Given the description of an element on the screen output the (x, y) to click on. 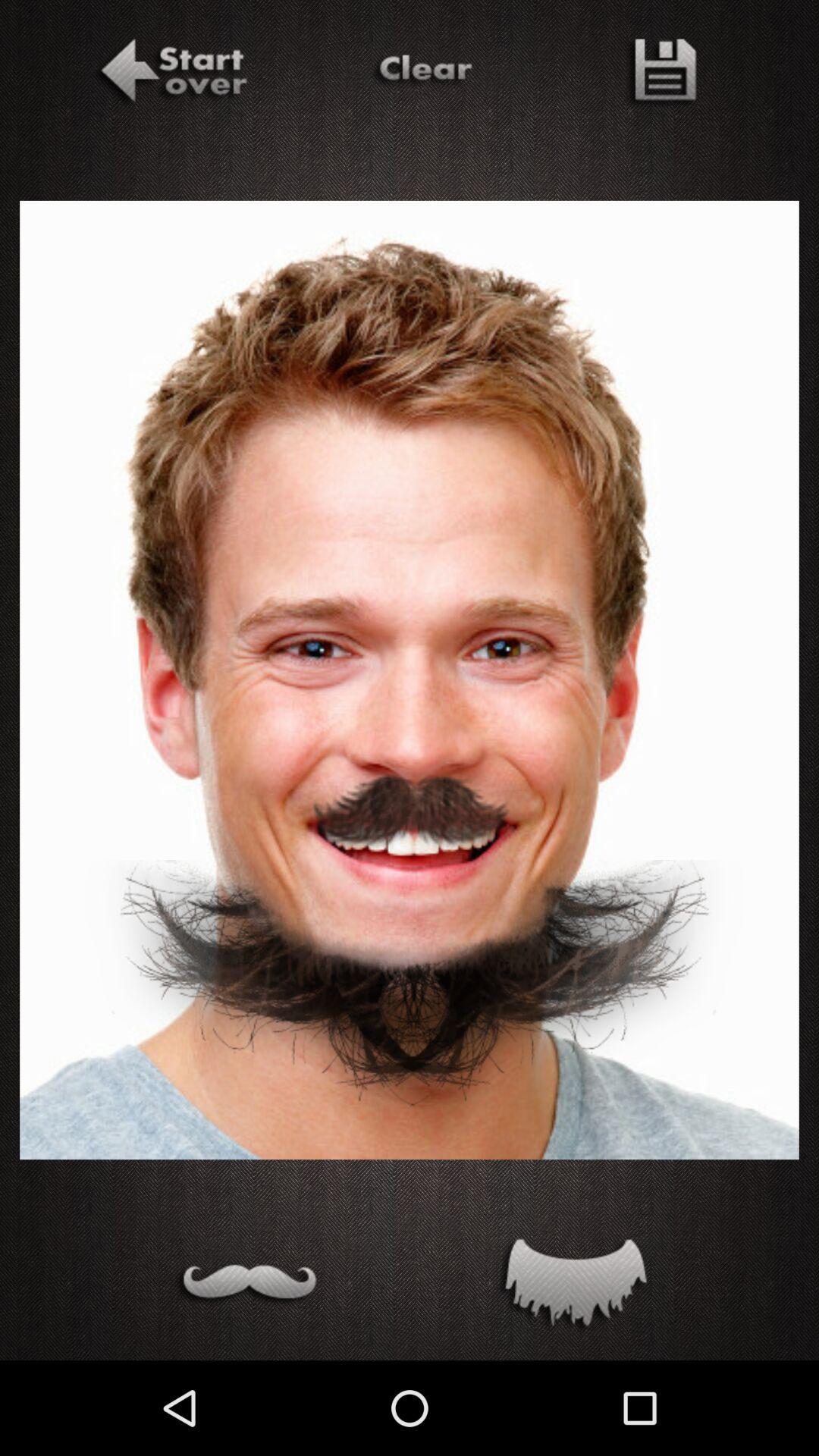
start over (170, 73)
